Given the description of an element on the screen output the (x, y) to click on. 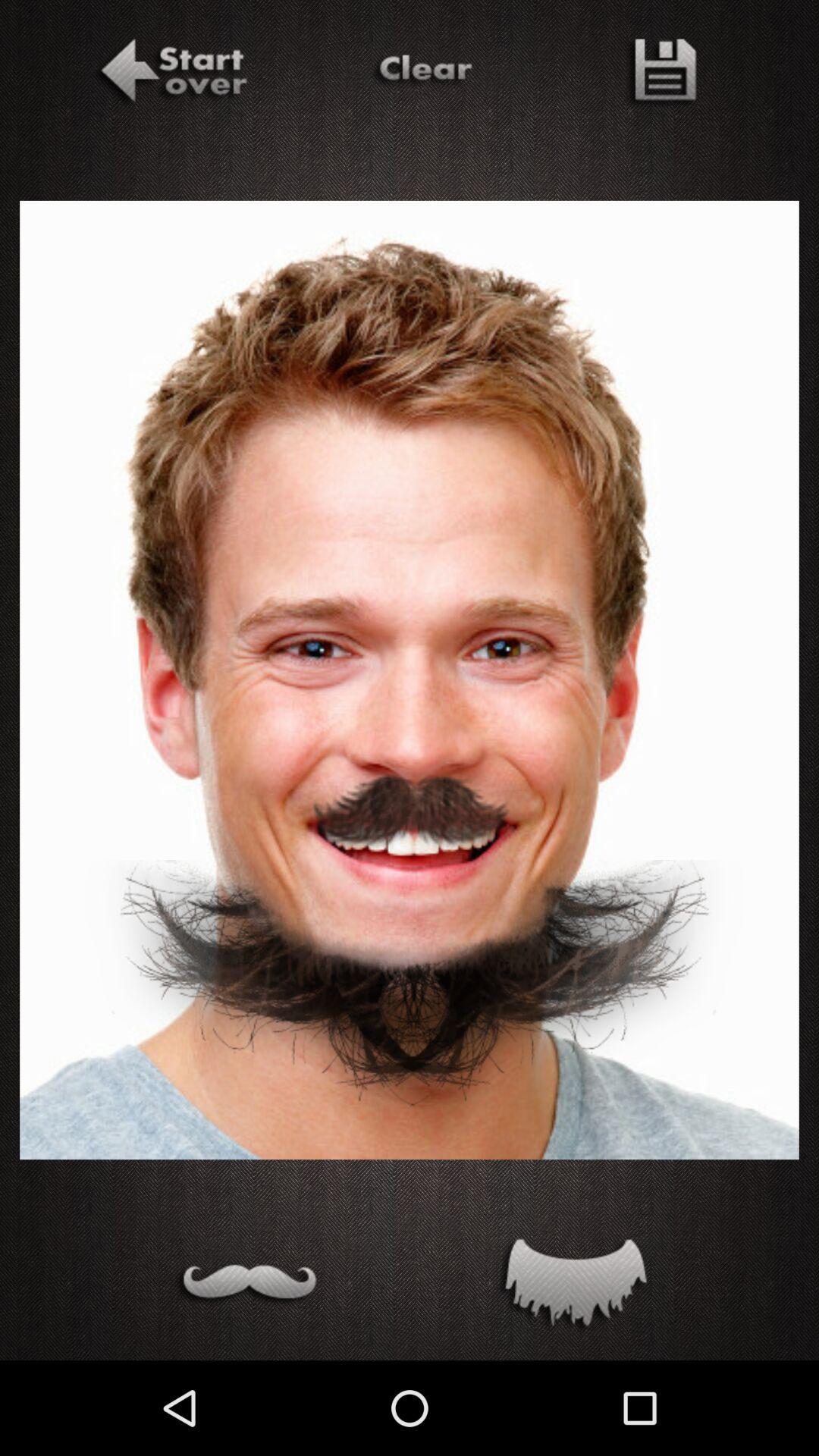
start over (170, 73)
